Given the description of an element on the screen output the (x, y) to click on. 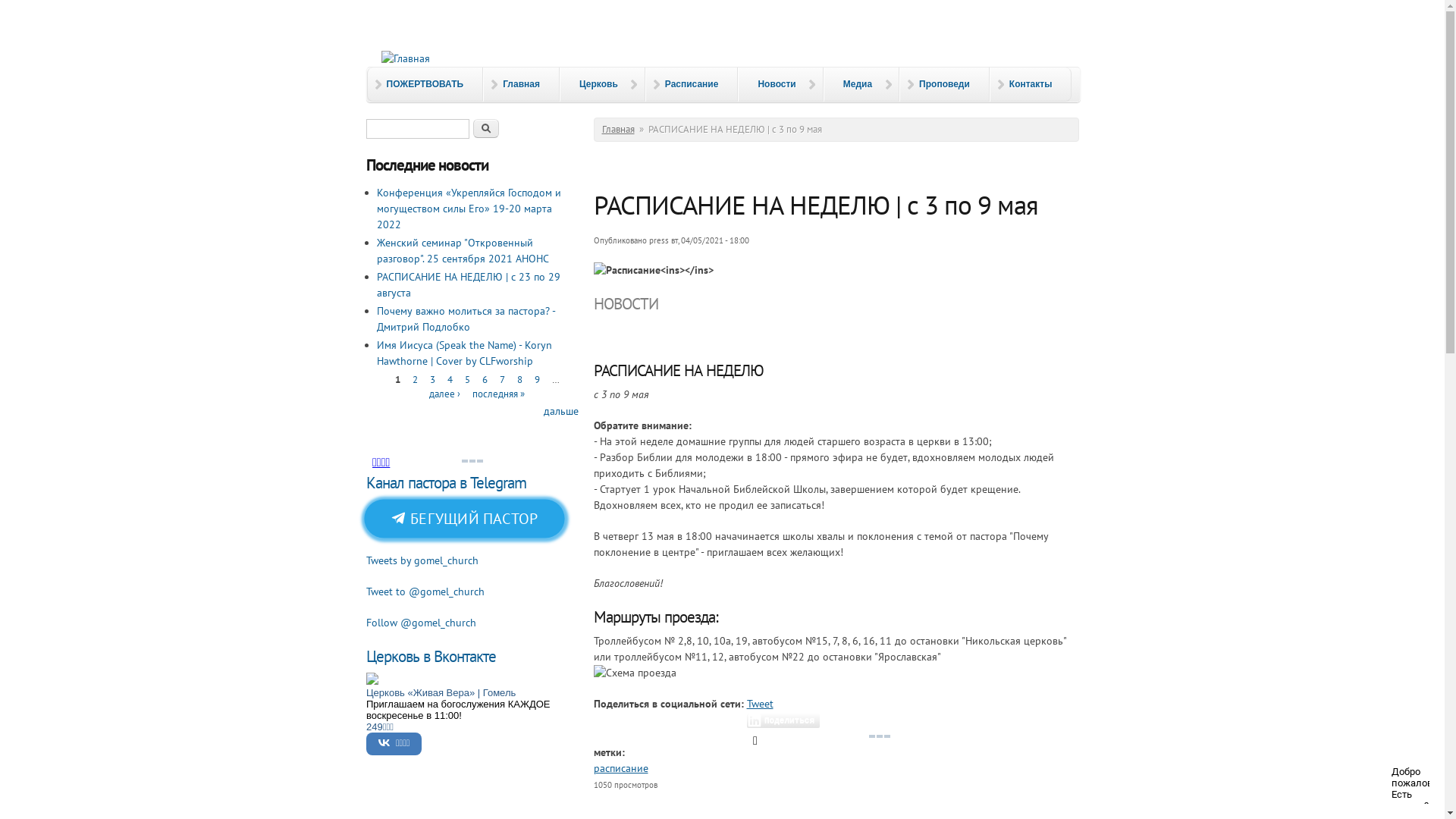
Tweets by gomel_church Element type: text (421, 560)
6 Element type: text (484, 378)
Follow @gomel_church Element type: text (420, 622)
9 Element type: text (536, 378)
5 Element type: text (466, 378)
7 Element type: text (501, 378)
4 Element type: text (449, 378)
3 Element type: text (431, 378)
2 Element type: text (414, 378)
Tweet to @gomel_church Element type: text (424, 591)
8 Element type: text (519, 378)
Tweet Element type: text (759, 703)
